Given the description of an element on the screen output the (x, y) to click on. 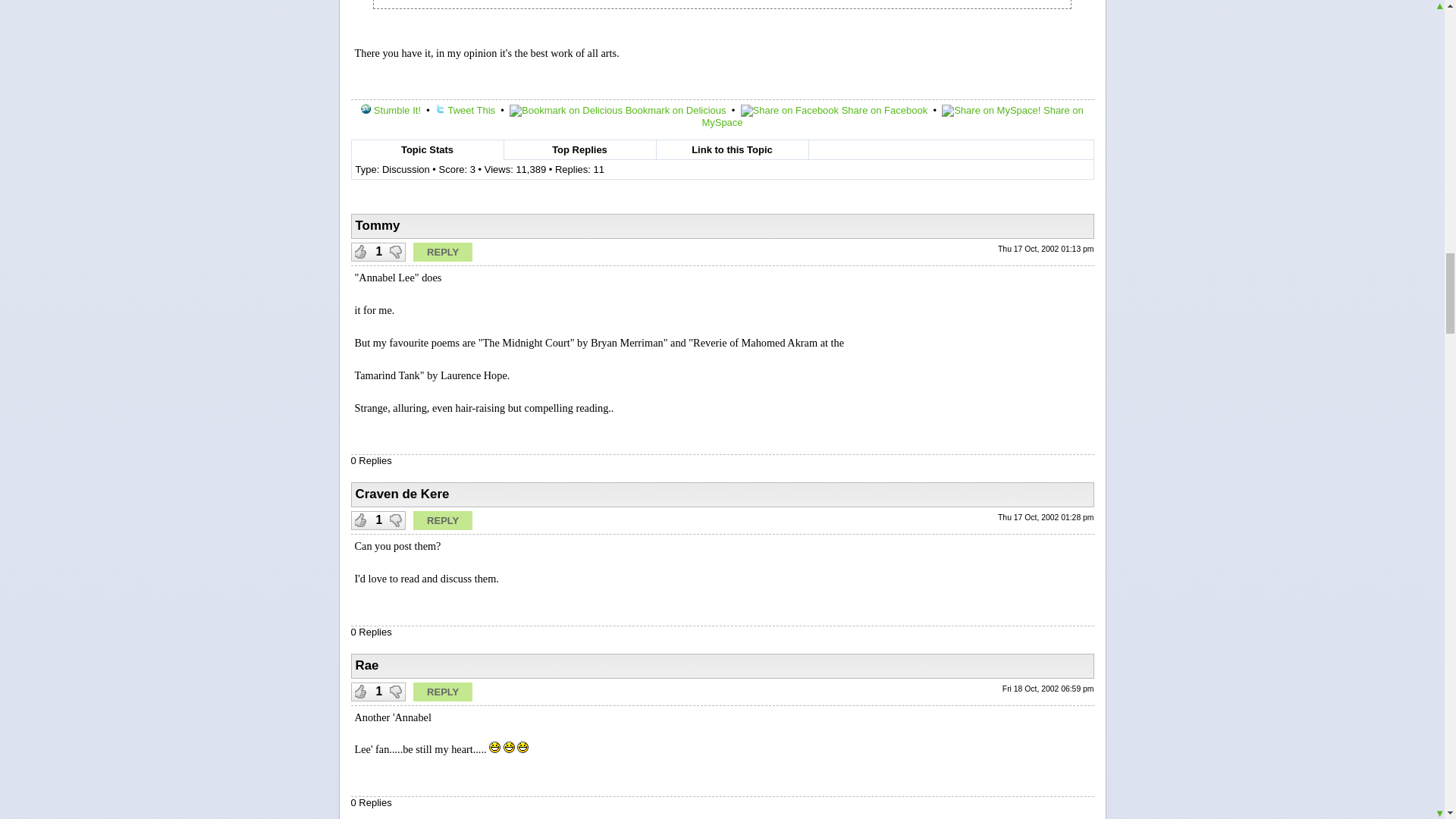
Reply (442, 251)
Bookmark on Delicious (617, 110)
Stumble It! (390, 110)
Share on MySpace (892, 115)
Tweet This (465, 110)
Share on Facebook (834, 110)
